Given the description of an element on the screen output the (x, y) to click on. 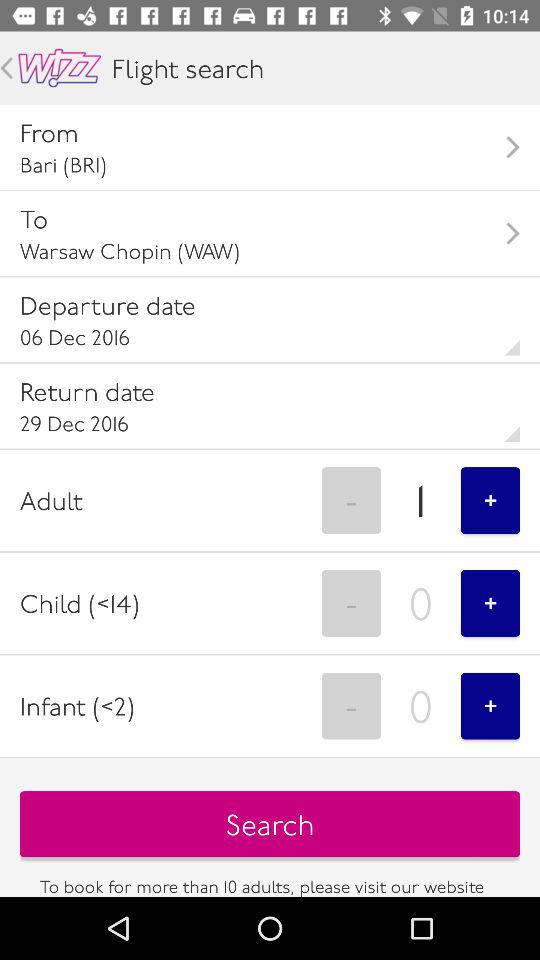
turn on icon next to 1 item (351, 500)
